Given the description of an element on the screen output the (x, y) to click on. 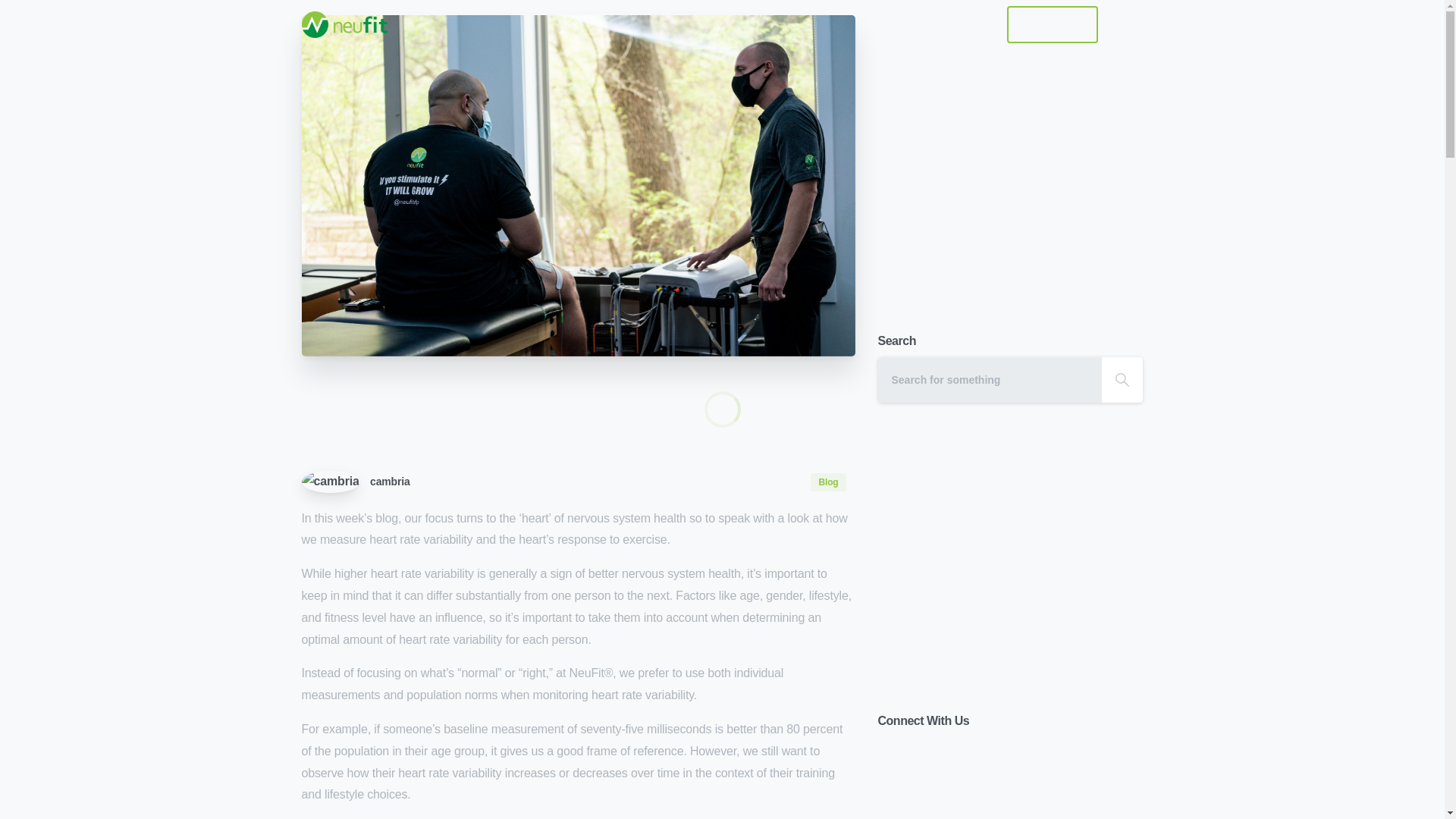
Shape (1122, 379)
